Given the description of an element on the screen output the (x, y) to click on. 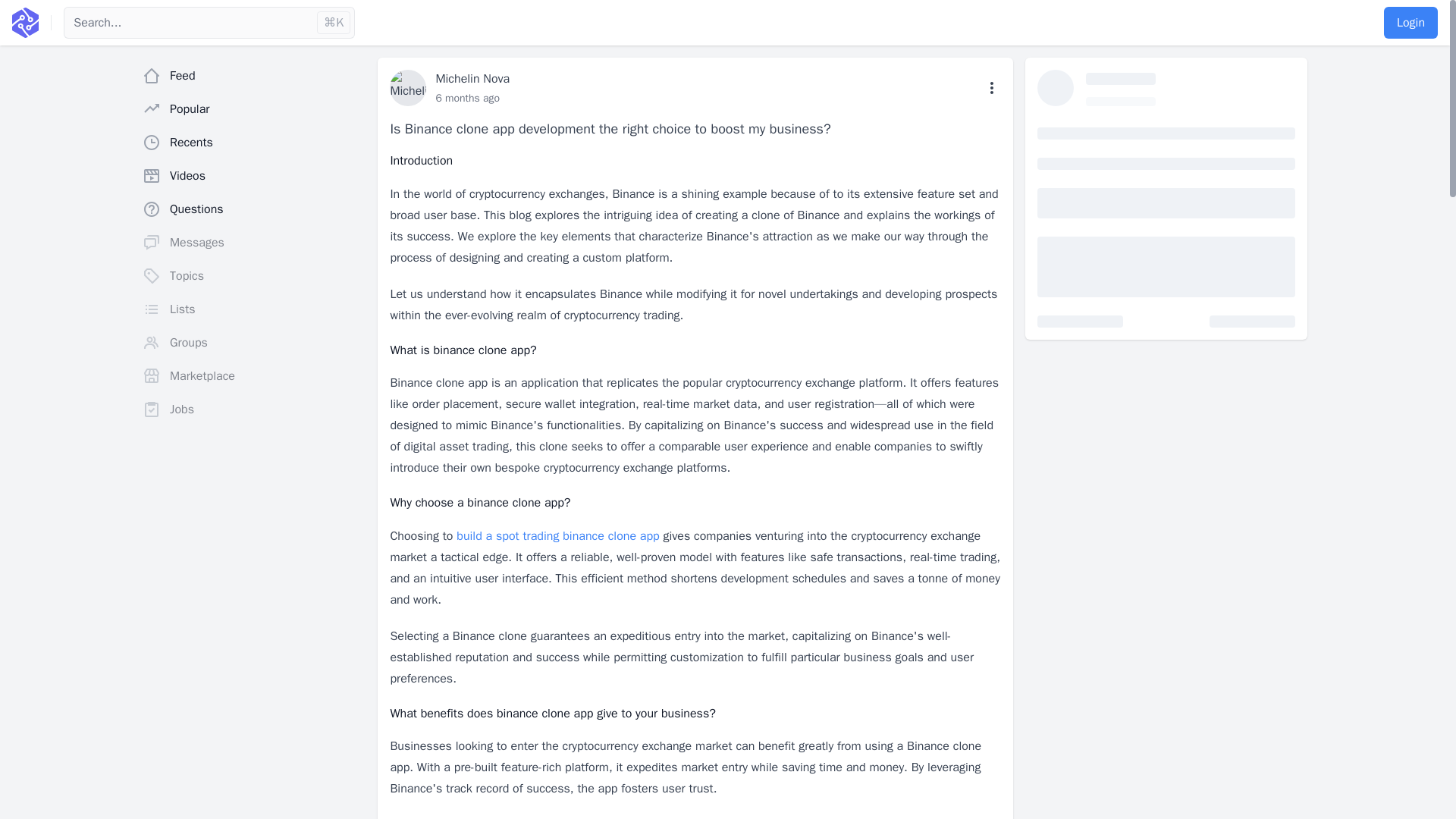
Login (1411, 22)
Open options (991, 87)
Popular (253, 109)
Michelin Nova (472, 78)
Feed (253, 75)
build a spot trading binance clone app (558, 535)
6 months ago (467, 97)
Videos (253, 175)
Recents (253, 142)
Questions (253, 209)
